Given the description of an element on the screen output the (x, y) to click on. 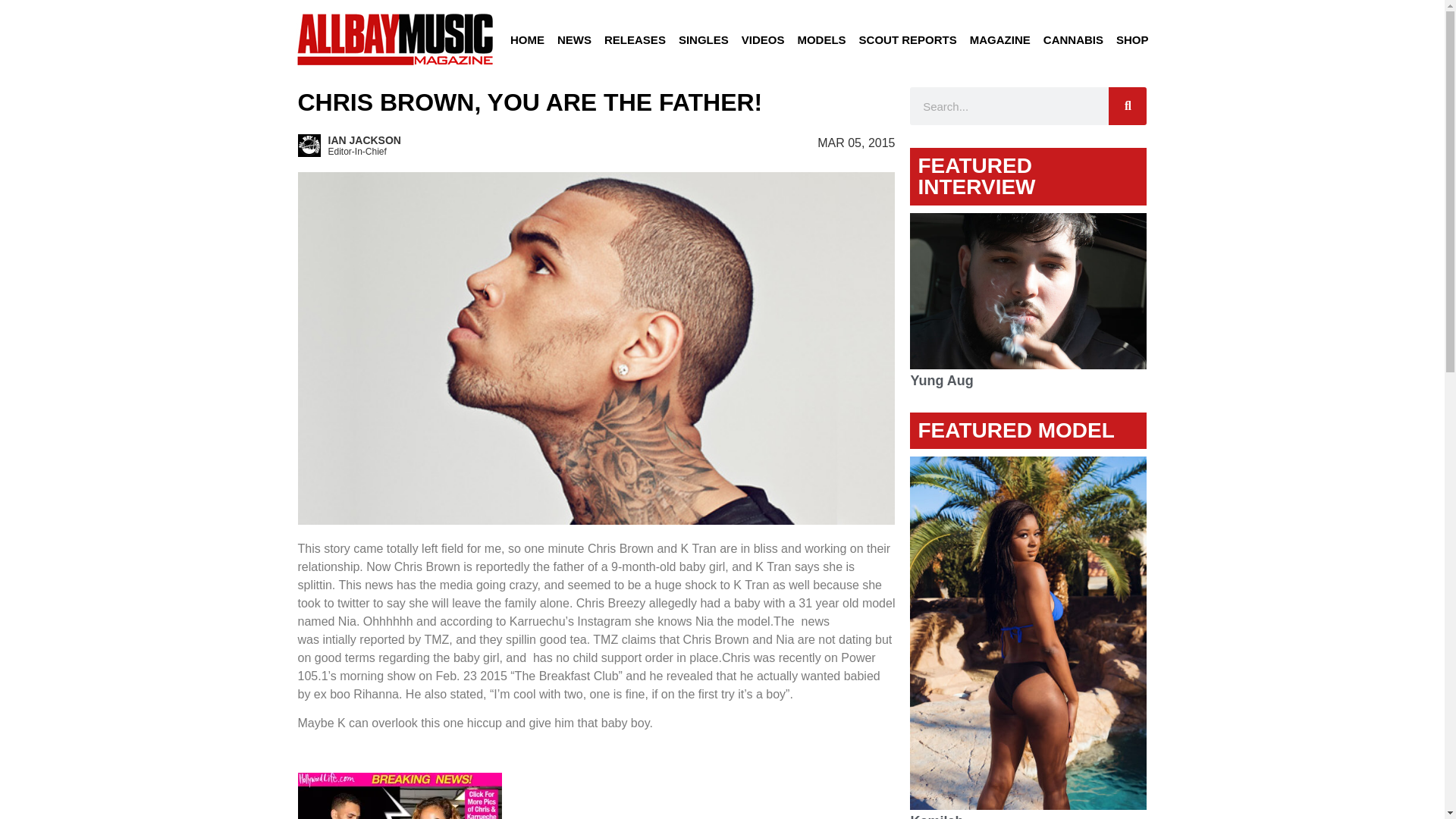
SINGLES (703, 39)
SCOUT REPORTS (907, 39)
HOME (526, 39)
SHOP (1131, 39)
CANNABIS (1072, 39)
NEWS (573, 39)
MAGAZINE (999, 39)
VIDEOS (762, 39)
RELEASES (634, 39)
Kamilah (936, 816)
